Given the description of an element on the screen output the (x, y) to click on. 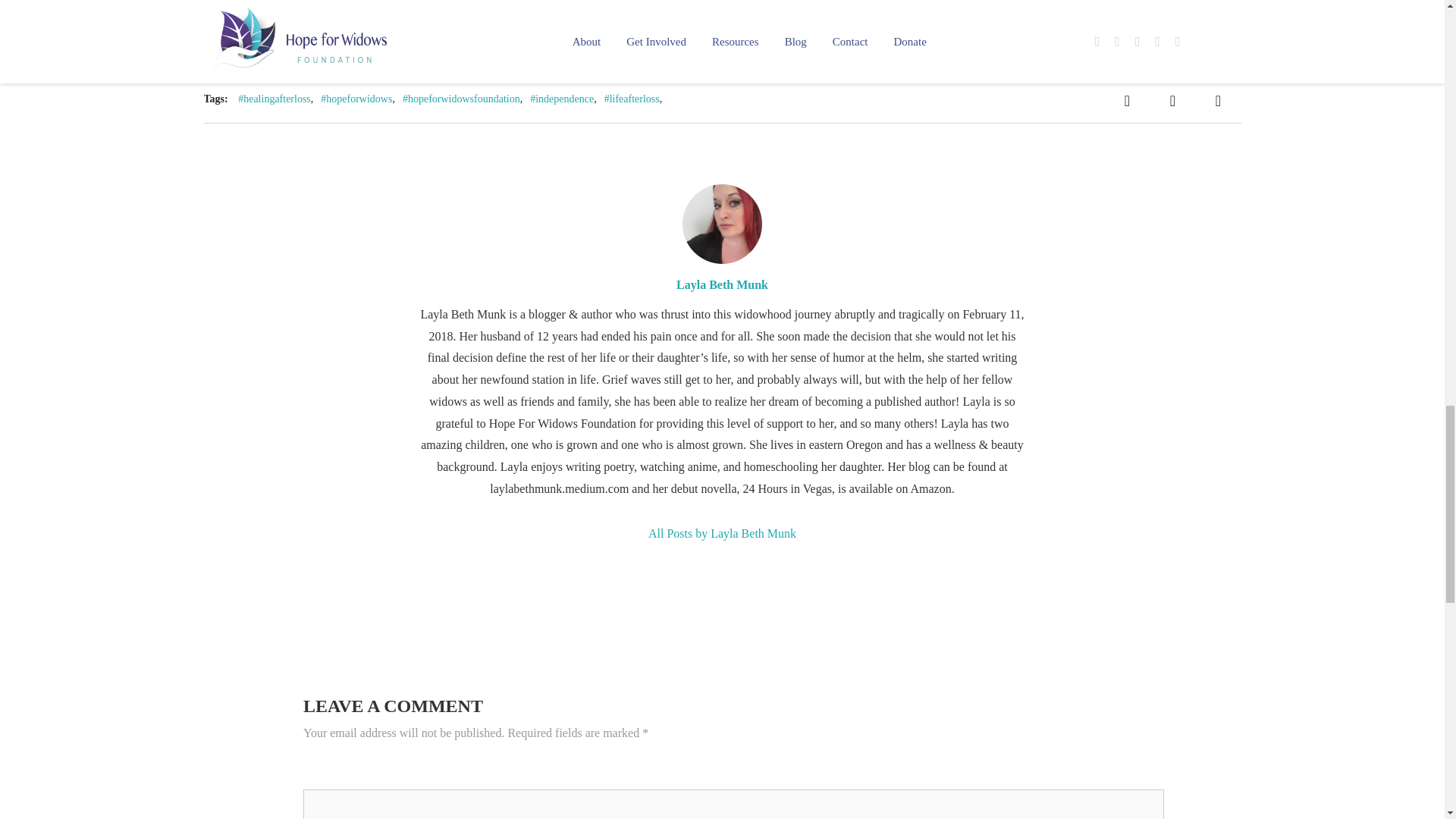
Share this. (1126, 100)
Tweet this. (1172, 100)
Pin this. (1217, 100)
